Given the description of an element on the screen output the (x, y) to click on. 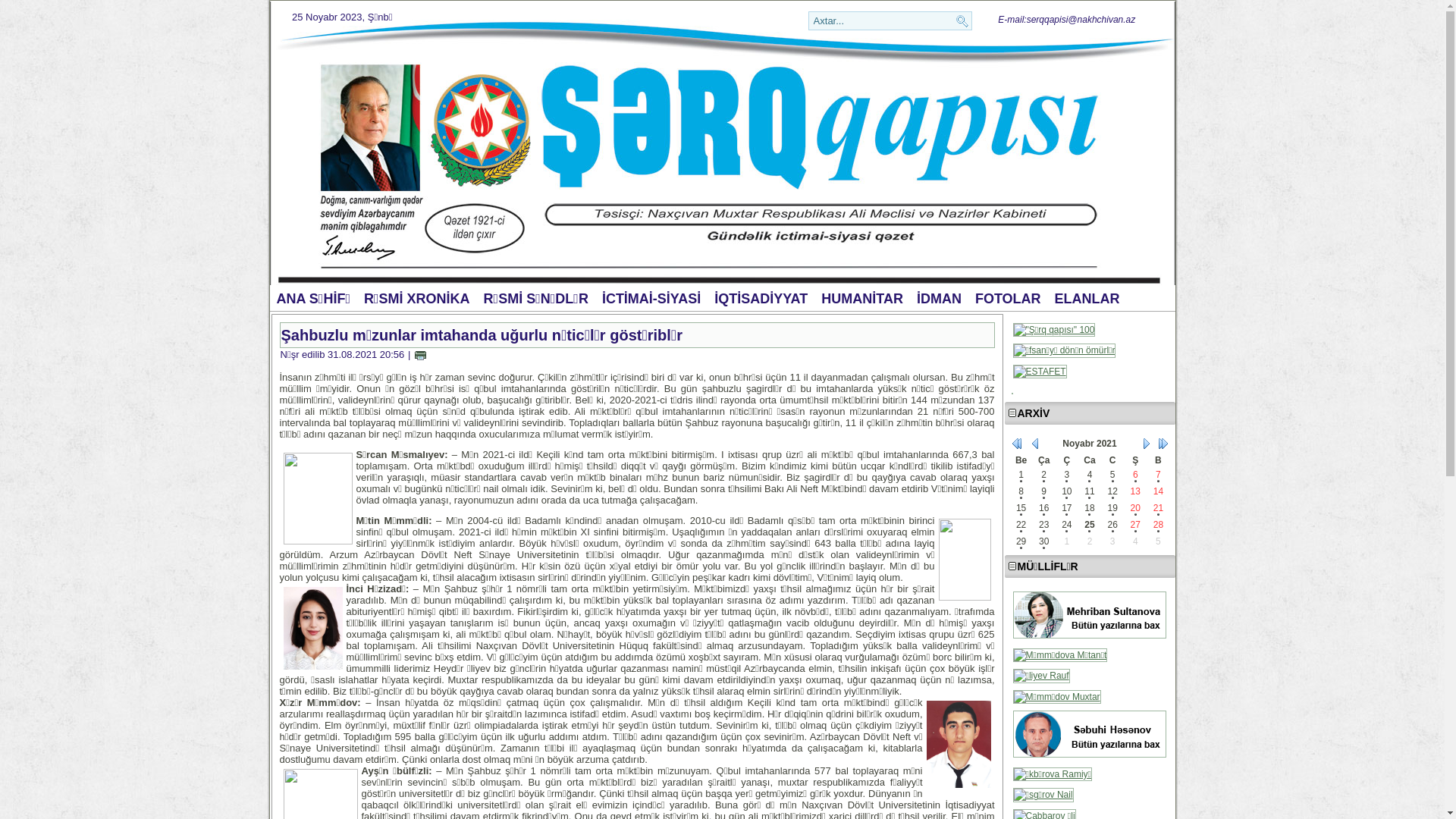
ELANLAR Element type: text (1087, 298)
FOTOLAR Element type: text (1008, 298)
